Given the description of an element on the screen output the (x, y) to click on. 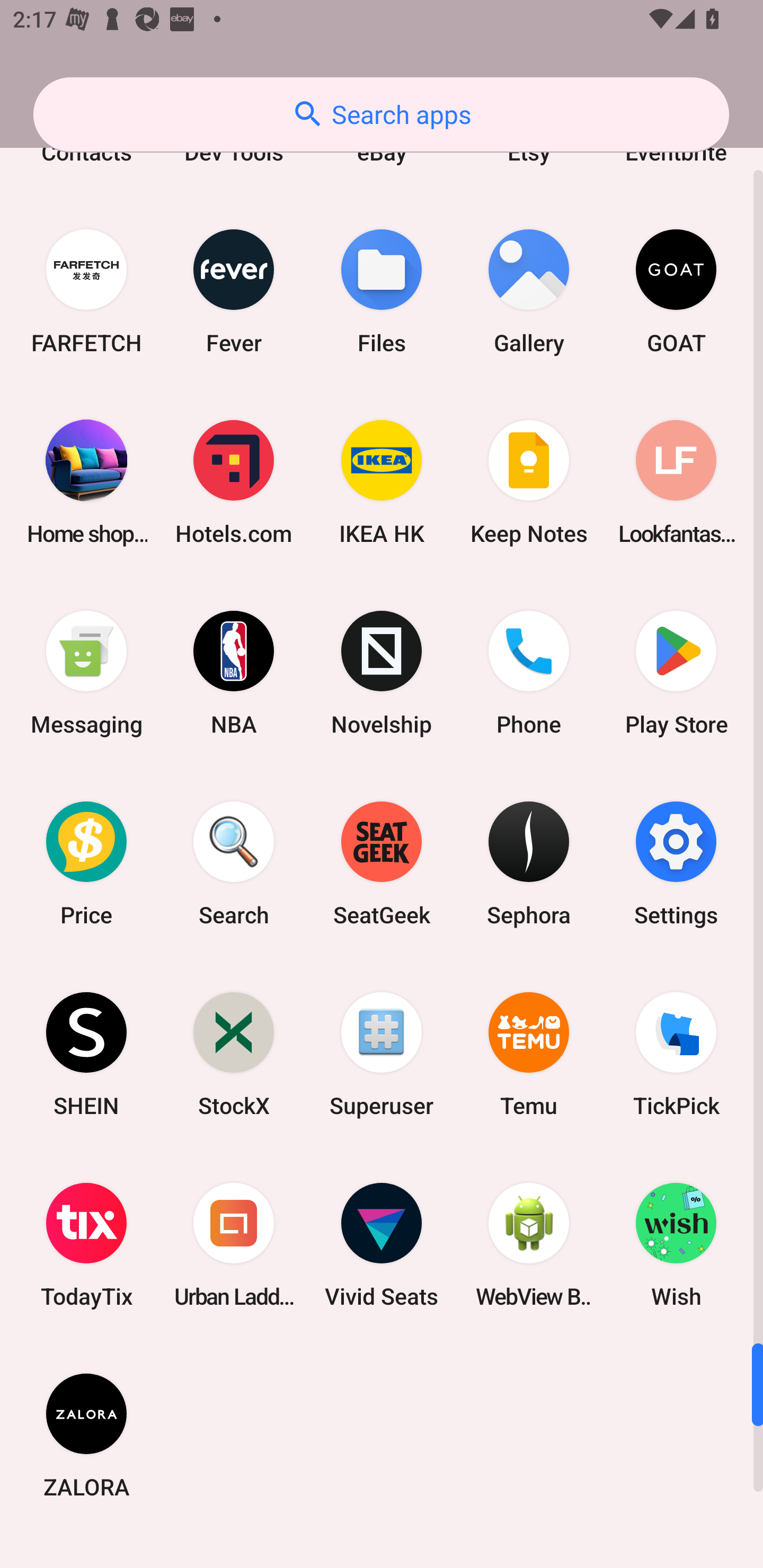
  Search apps (381, 114)
FARFETCH (86, 291)
Fever (233, 291)
Files (381, 291)
Gallery (528, 291)
GOAT (676, 291)
Home shopping (86, 482)
Hotels.com (233, 482)
IKEA HK (381, 482)
Keep Notes (528, 482)
Lookfantastic (676, 482)
Messaging (86, 672)
NBA (233, 672)
Novelship (381, 672)
Phone (528, 672)
Play Store (676, 672)
Price (86, 863)
Search (233, 863)
SeatGeek (381, 863)
Sephora (528, 863)
Settings (676, 863)
SHEIN (86, 1053)
StockX (233, 1053)
Superuser (381, 1053)
Temu (528, 1053)
TickPick (676, 1053)
TodayTix (86, 1244)
Urban Ladder (233, 1244)
Vivid Seats (381, 1244)
WebView Browser Tester (528, 1244)
Wish (676, 1244)
ZALORA (86, 1435)
